Given the description of an element on the screen output the (x, y) to click on. 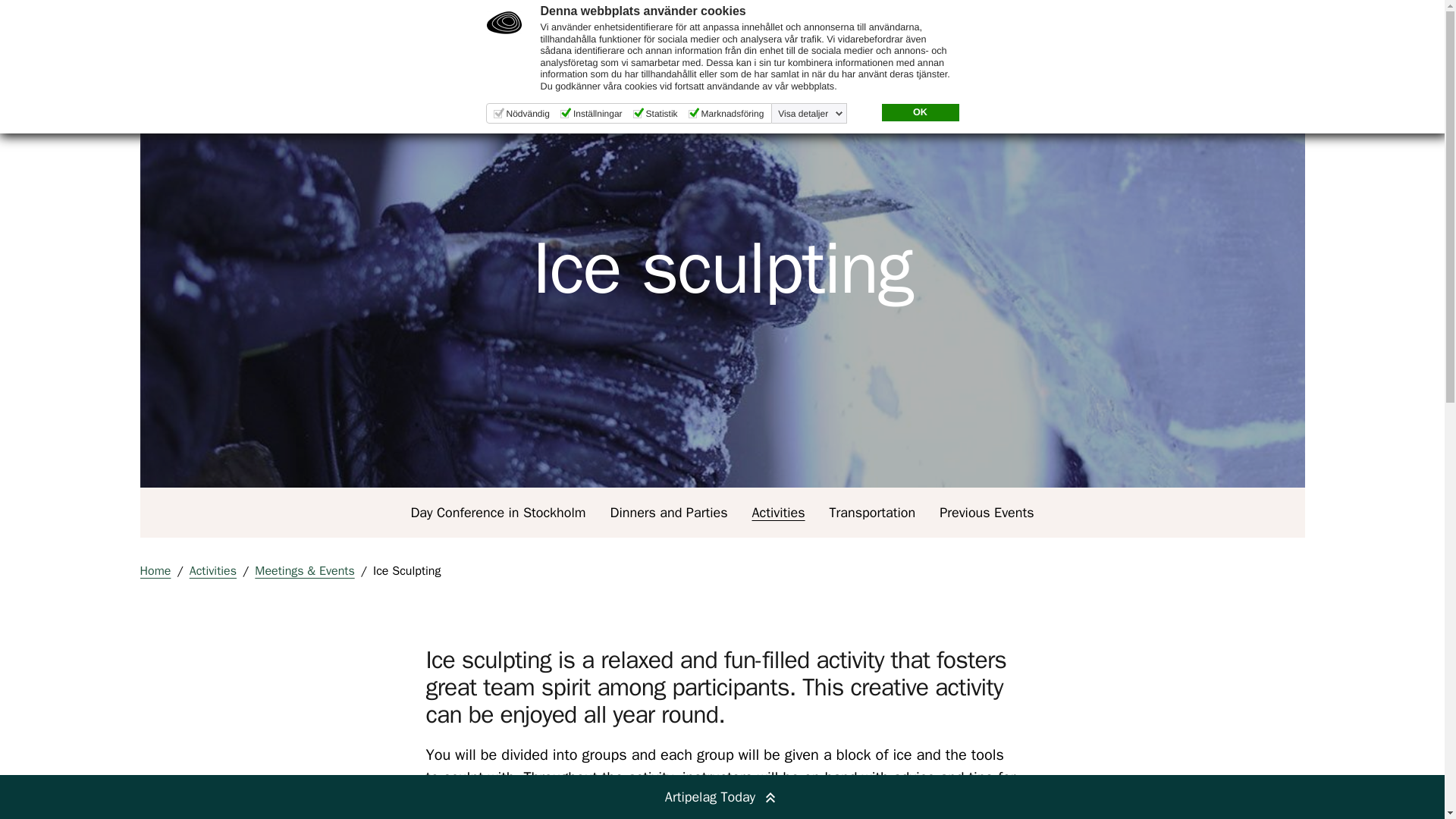
Visa detaljer (809, 113)
OK (919, 113)
